Given the description of an element on the screen output the (x, y) to click on. 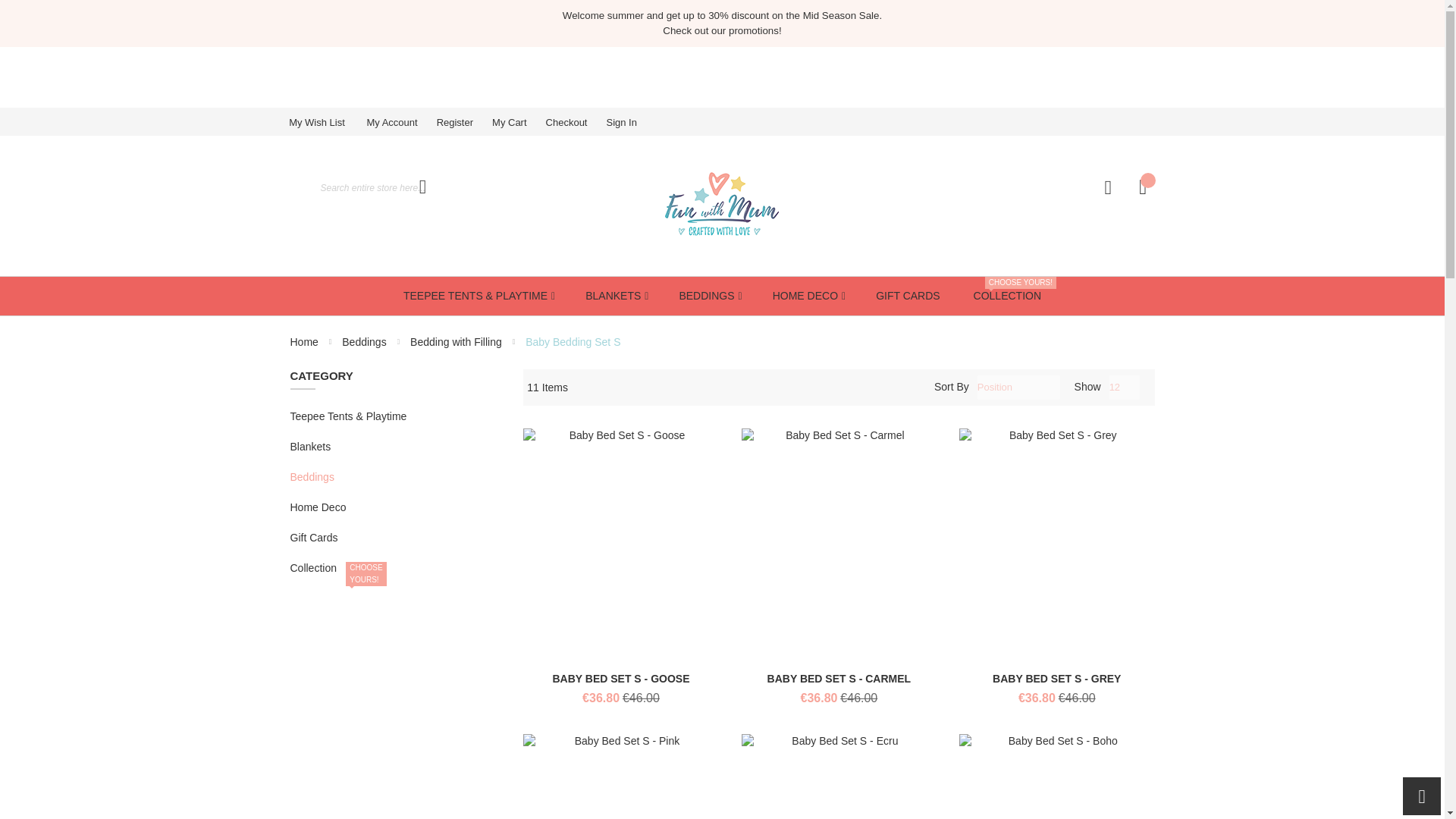
Sign In (630, 122)
Go to Home Page (304, 341)
Check out our promotions! (721, 30)
Search (421, 186)
My Cart (519, 122)
Register (464, 122)
My Account (400, 122)
mid season sale (722, 15)
SEARCH (421, 186)
My Wish List (326, 122)
